Given the description of an element on the screen output the (x, y) to click on. 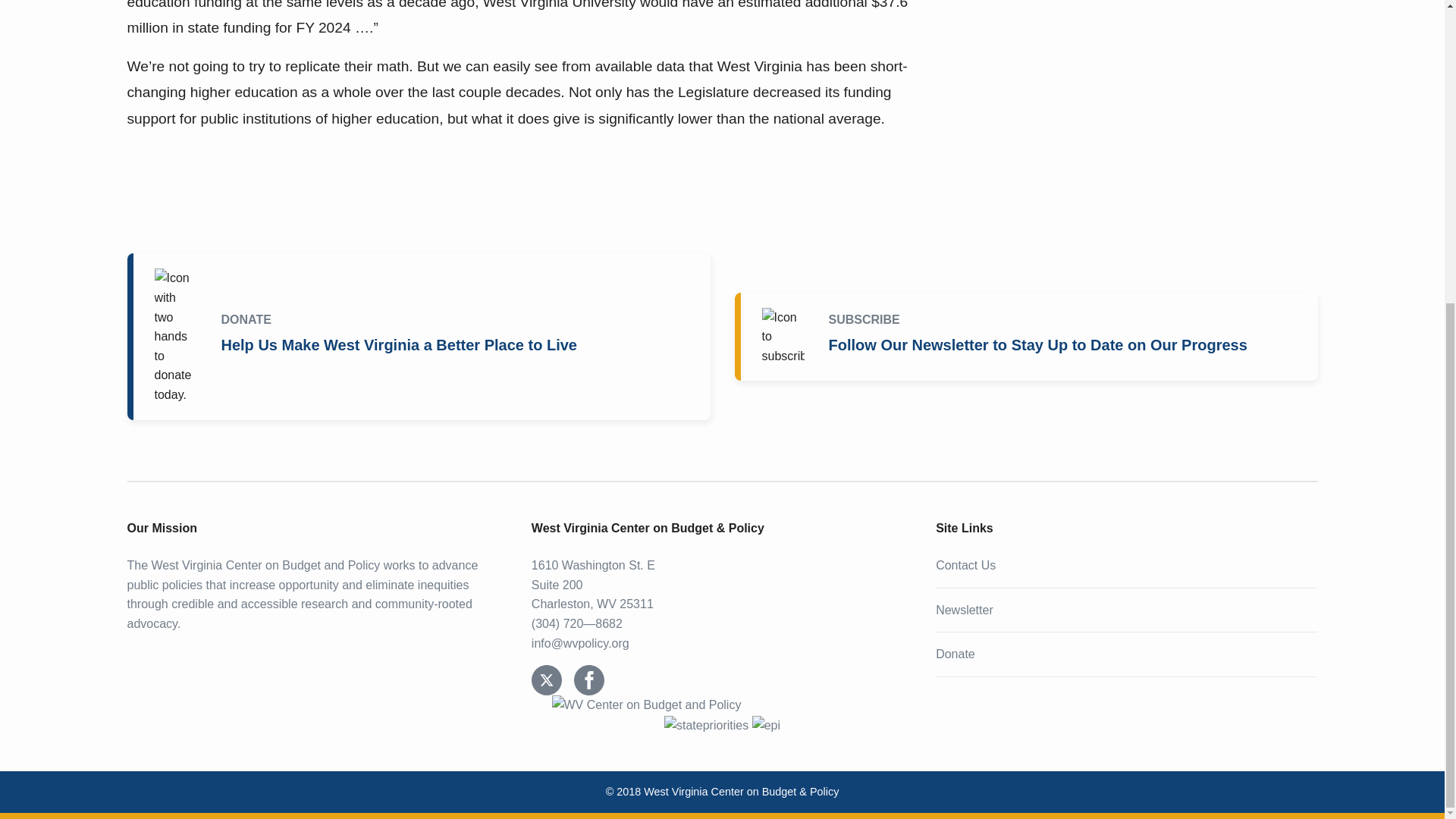
Donate Today! (421, 336)
Follow us on Twitter (546, 680)
Email Us (579, 642)
Subscribe Today! (1028, 336)
